Given the description of an element on the screen output the (x, y) to click on. 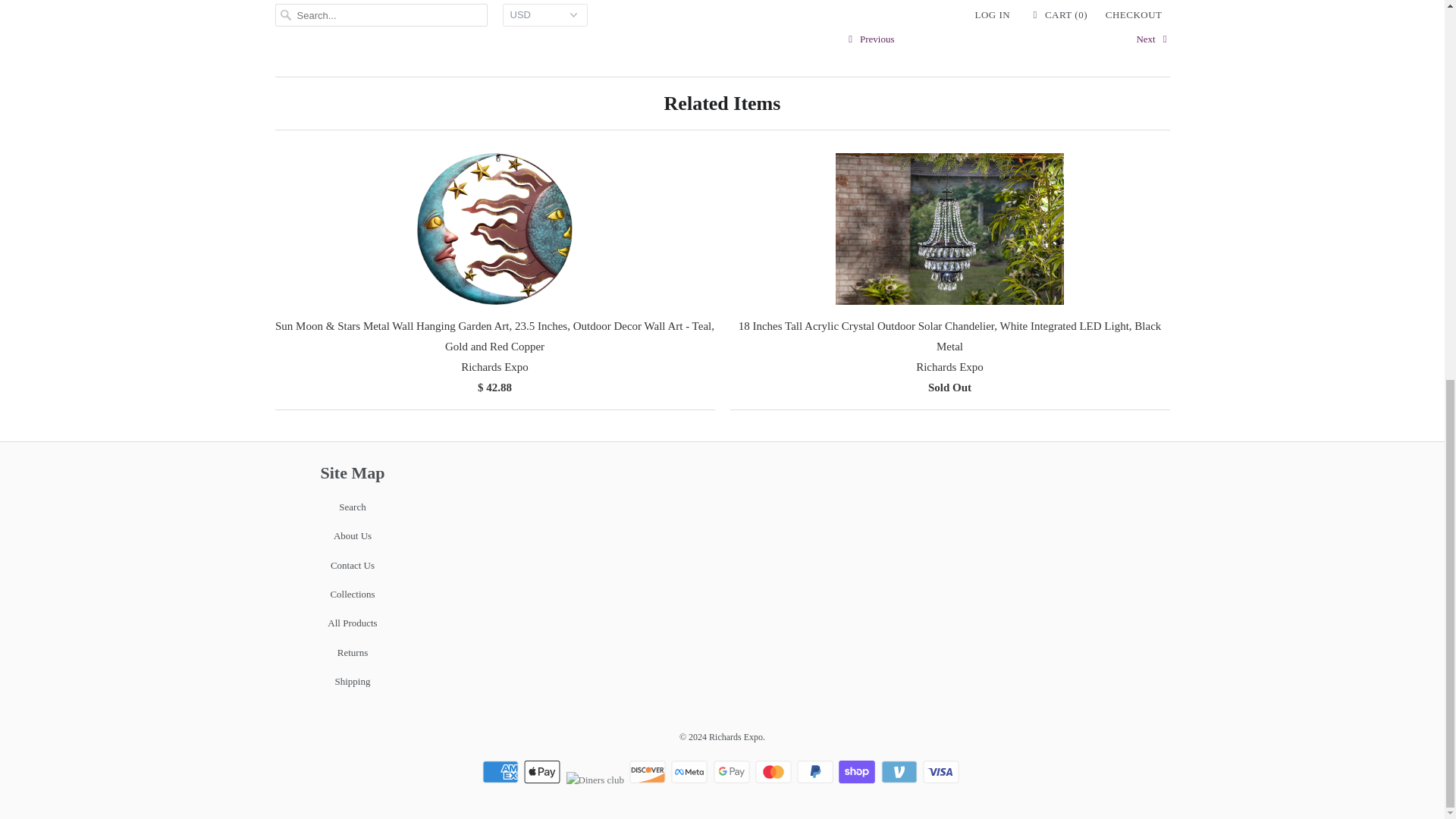
Search (352, 506)
Contact Us (352, 564)
About Us (352, 535)
Collections (352, 593)
All Products (352, 622)
